Given the description of an element on the screen output the (x, y) to click on. 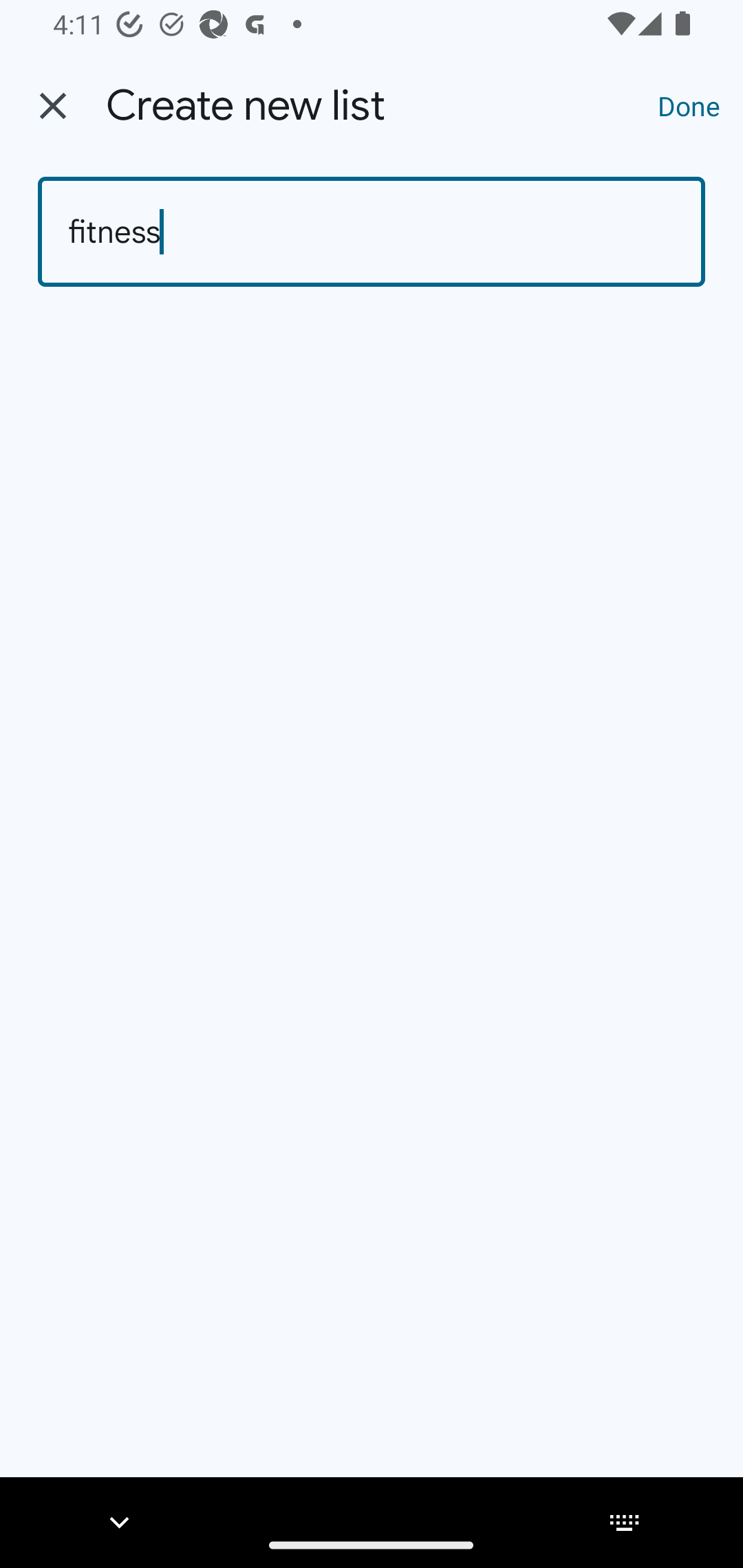
Back (53, 105)
Done (689, 105)
fitness (371, 231)
